Given the description of an element on the screen output the (x, y) to click on. 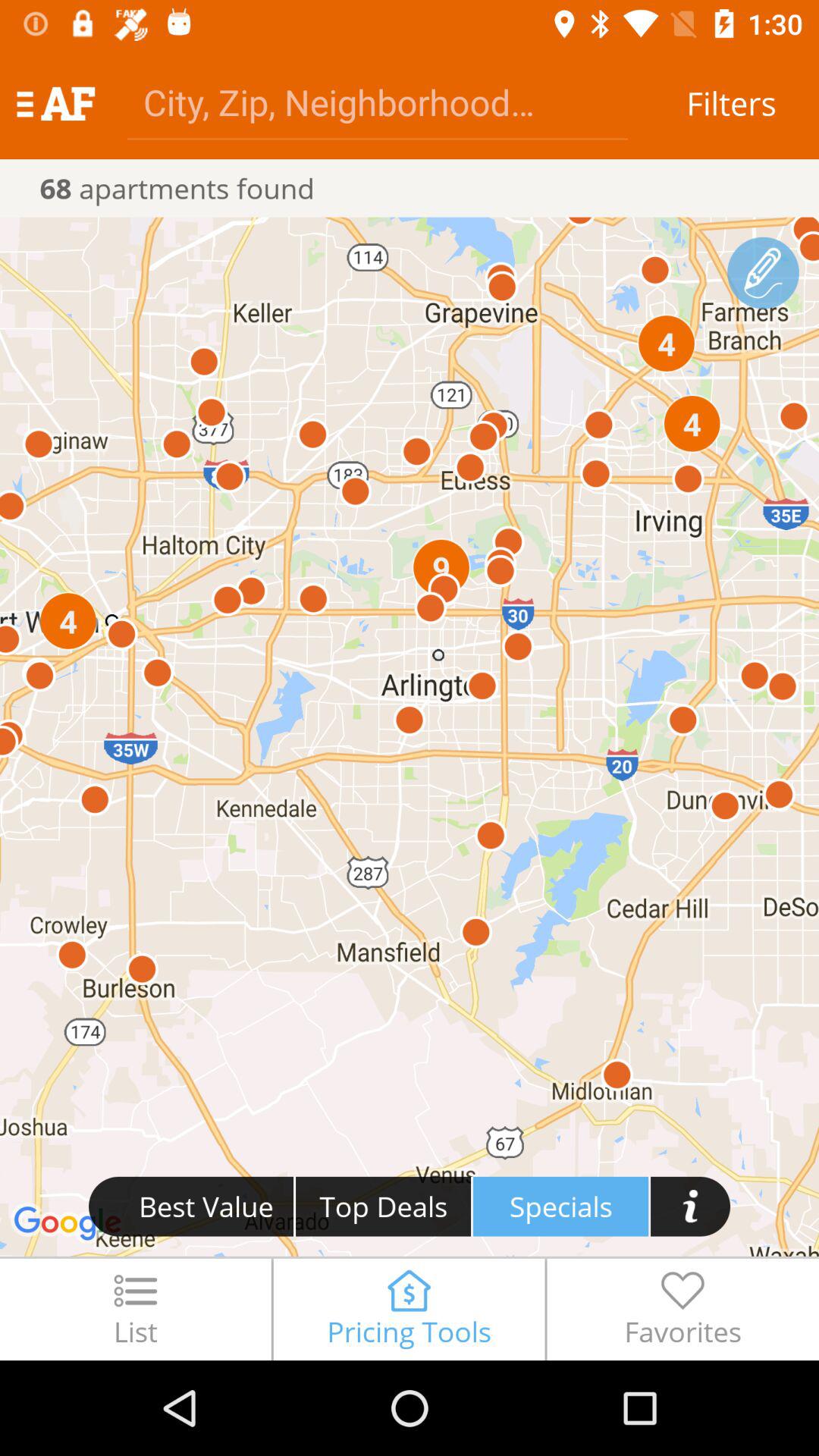
turn on icon above list item (409, 736)
